Given the description of an element on the screen output the (x, y) to click on. 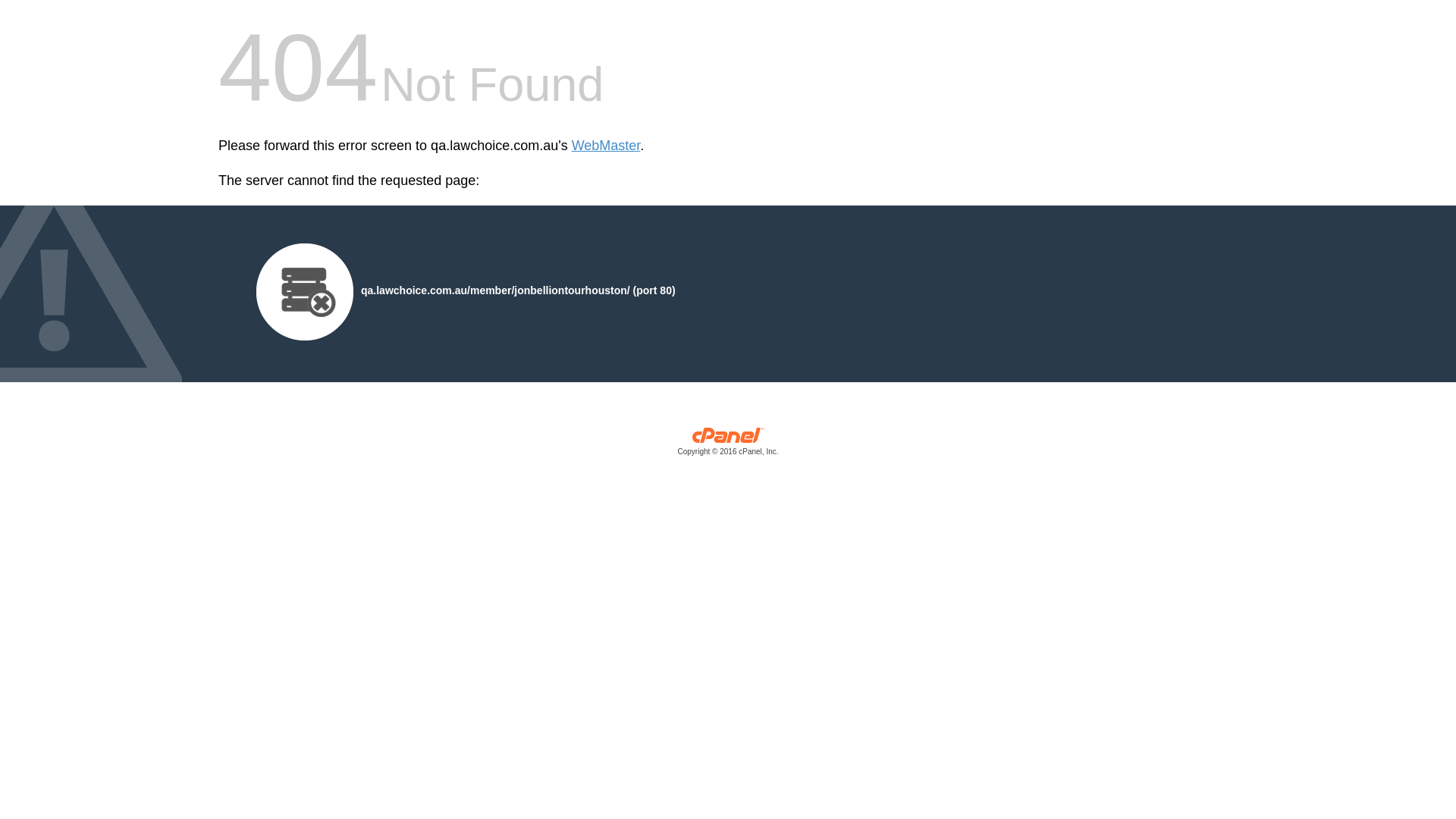
WebMaster Element type: text (605, 145)
